Given the description of an element on the screen output the (x, y) to click on. 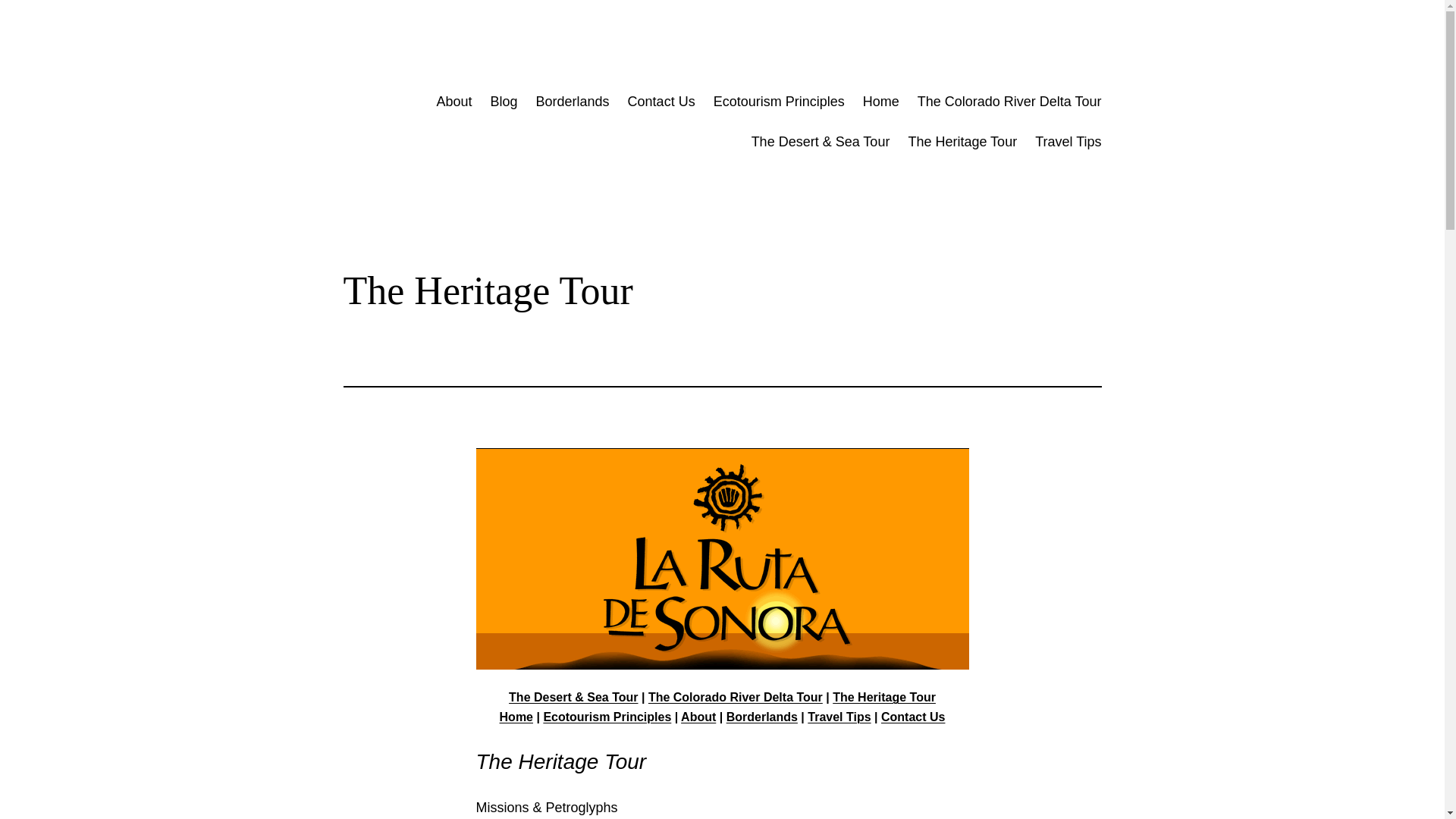
Blog (502, 101)
The Colorado River Delta Tour (734, 697)
The Heritage Tour (961, 142)
Borderlands (761, 716)
Borderlands (572, 101)
About (453, 101)
About (698, 716)
Ecotourism Principles (607, 716)
Contact Us (912, 716)
Contact Us (661, 101)
The Heritage Tour (884, 697)
Home (515, 716)
The Colorado River Delta Tour (1009, 101)
Home (881, 101)
Travel Tips (1067, 142)
